Given the description of an element on the screen output the (x, y) to click on. 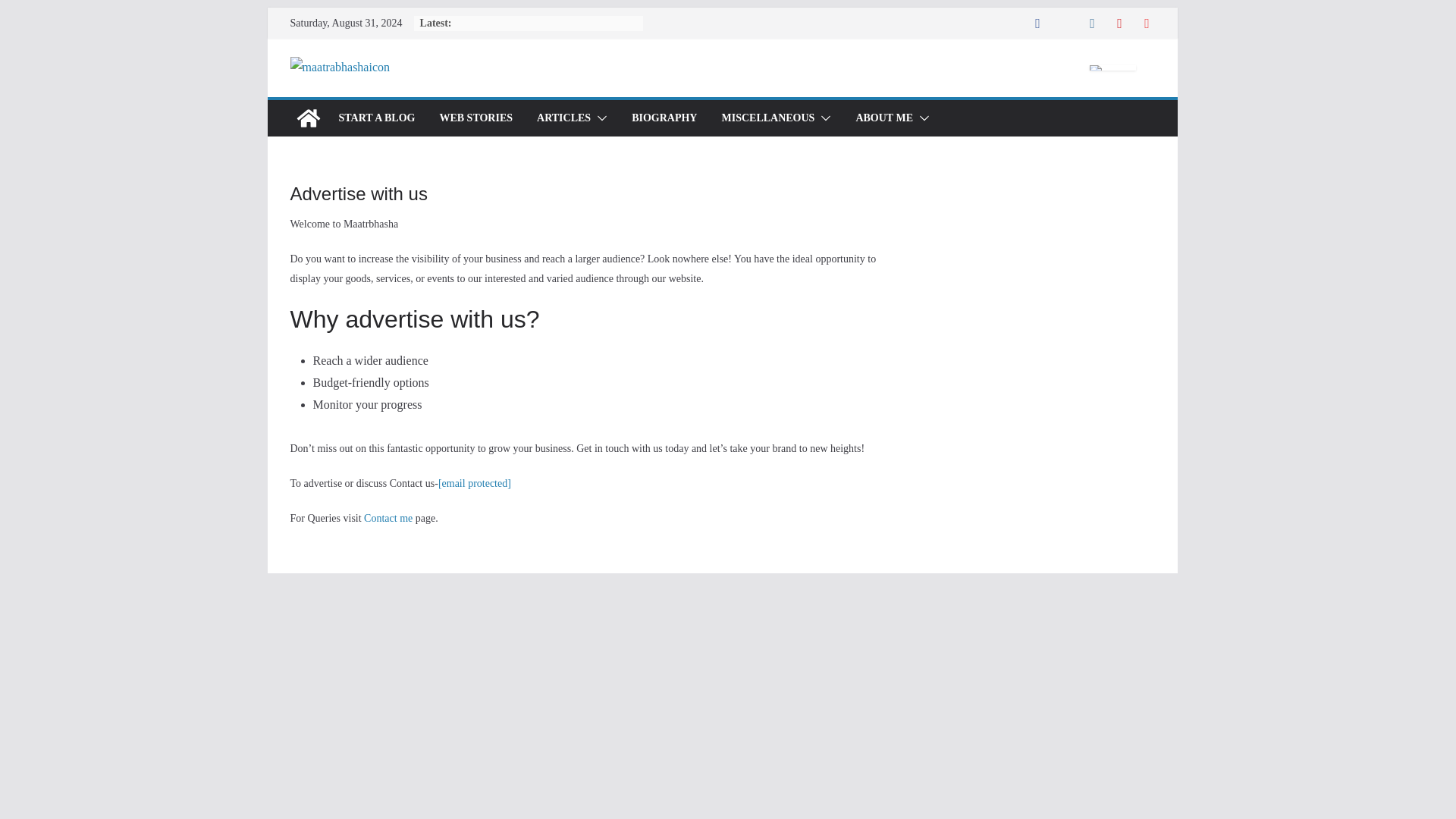
MaatrBhasha (307, 117)
ARTICLES (564, 117)
MISCELLANEOUS (766, 117)
ABOUT ME (884, 117)
BIOGRAPHY (664, 117)
Contact me (388, 518)
WEB STORIES (475, 117)
START A BLOG (375, 117)
